Given the description of an element on the screen output the (x, y) to click on. 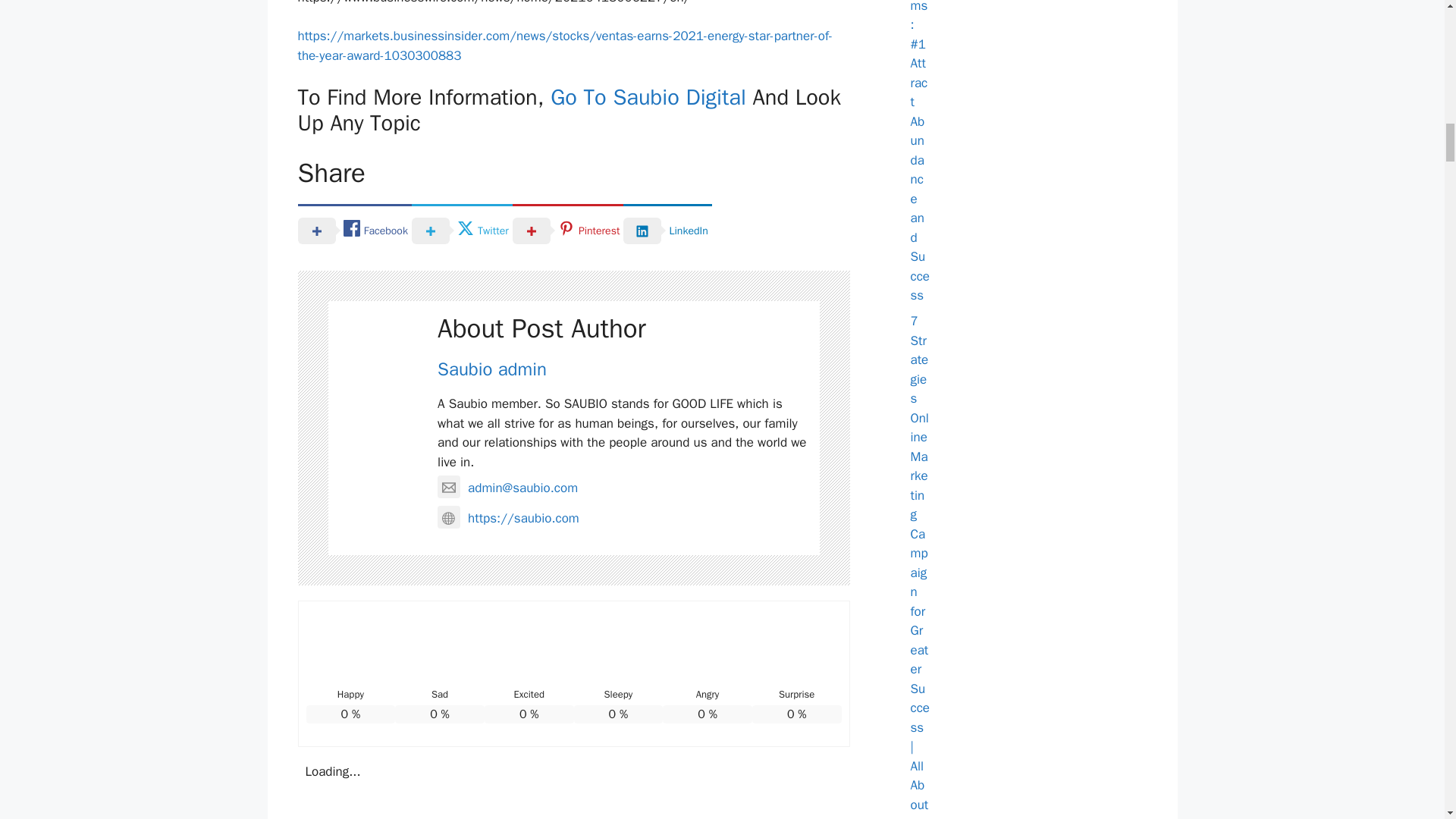
Saubio admin (492, 368)
LinkedIn (667, 229)
Facebook (353, 229)
Pinterest (568, 229)
Go To Saubio Digital (647, 97)
Twitter (462, 229)
